Given the description of an element on the screen output the (x, y) to click on. 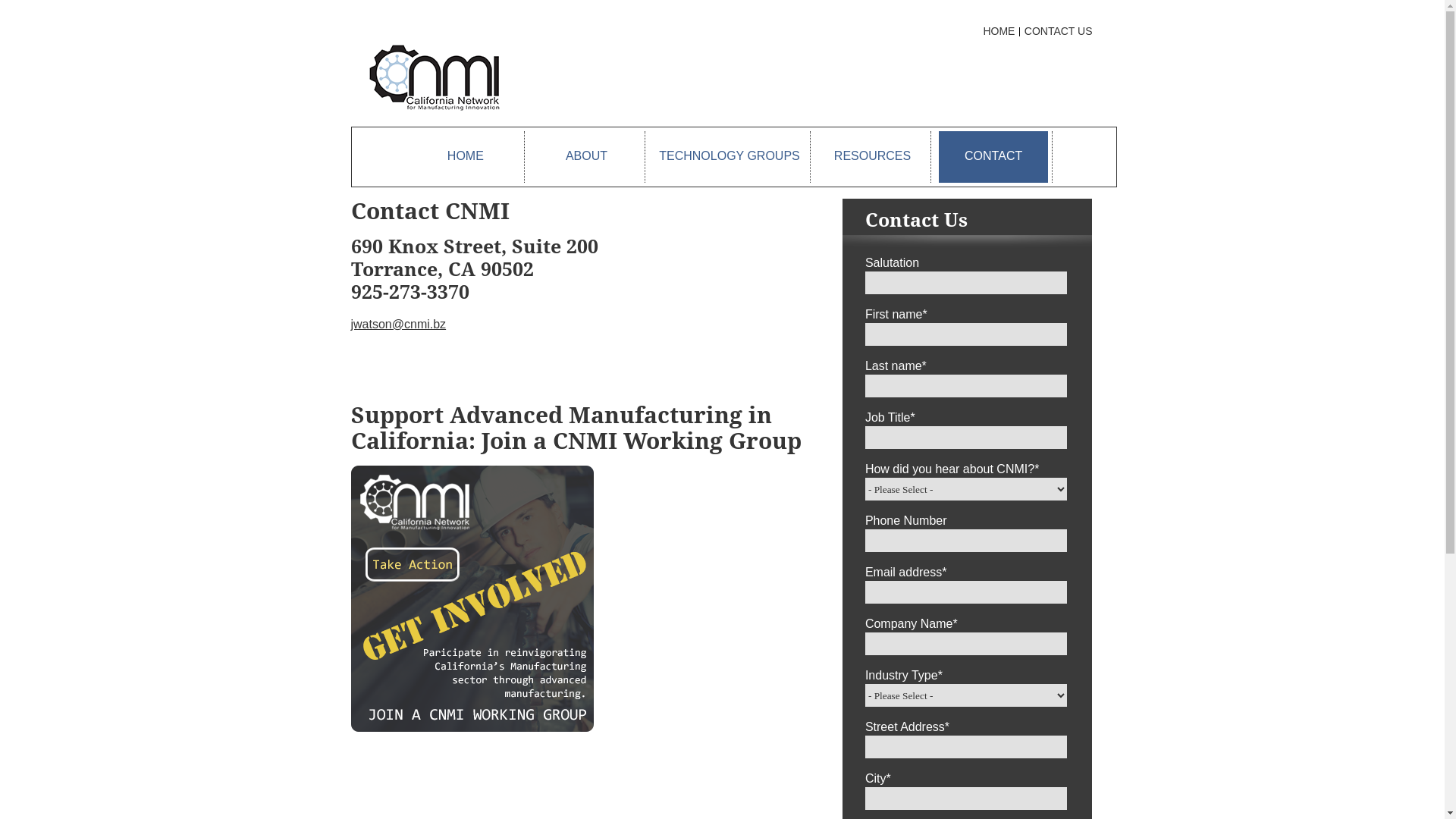
CNMI - California Network For Manufacturing Innovation Element type: hover (434, 76)
ABOUT Element type: text (586, 156)
jwatson@cnmi.bz Element type: text (397, 323)
TECHNOLOGY GROUPS Element type: text (729, 156)
CONTACT Element type: text (993, 156)
CONTACT US Element type: text (1056, 31)
HOME Element type: text (997, 31)
HOME Element type: text (465, 156)
RESOURCES Element type: text (872, 156)
